Given the description of an element on the screen output the (x, y) to click on. 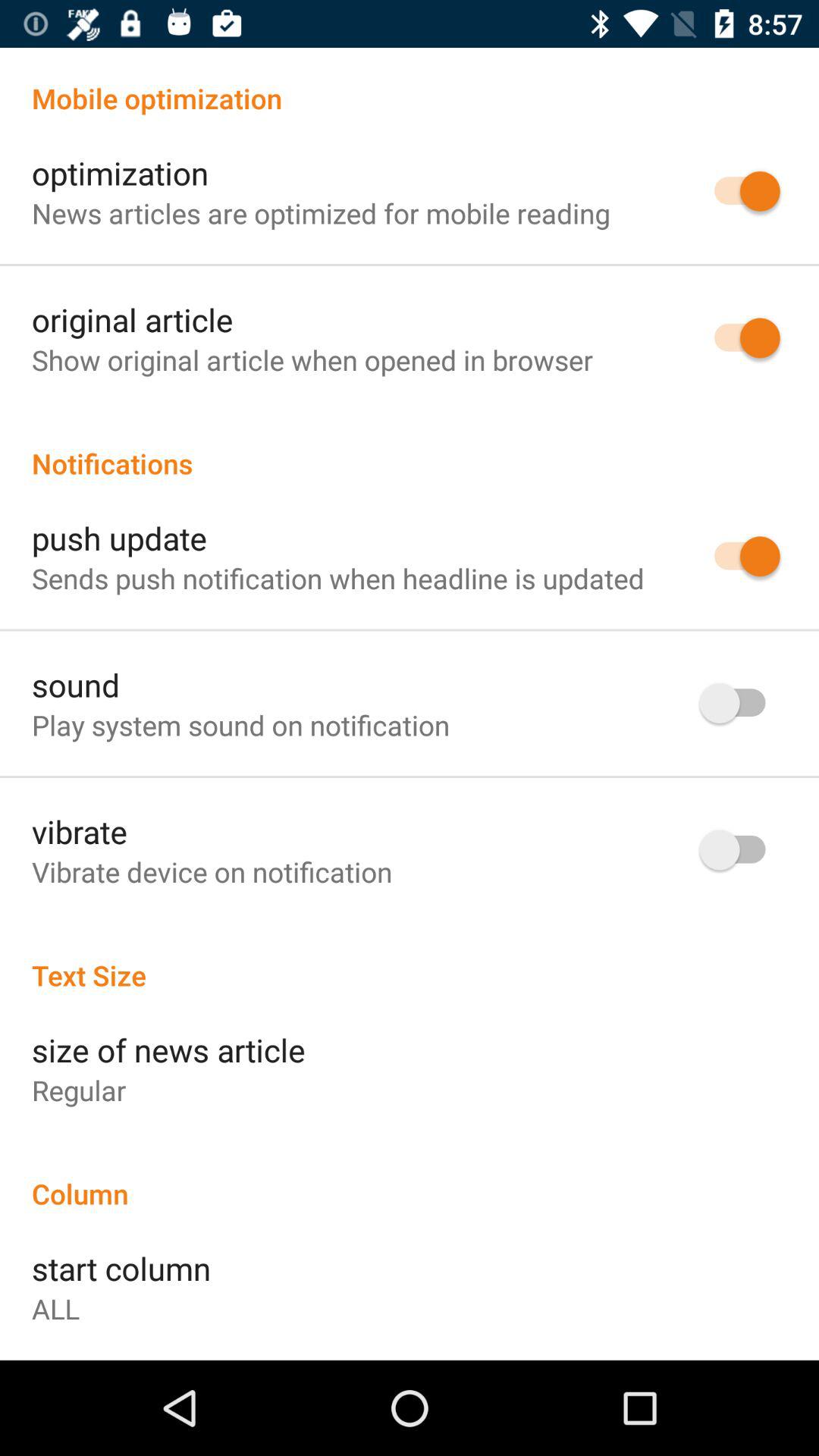
choose the icon above column (78, 1090)
